Given the description of an element on the screen output the (x, y) to click on. 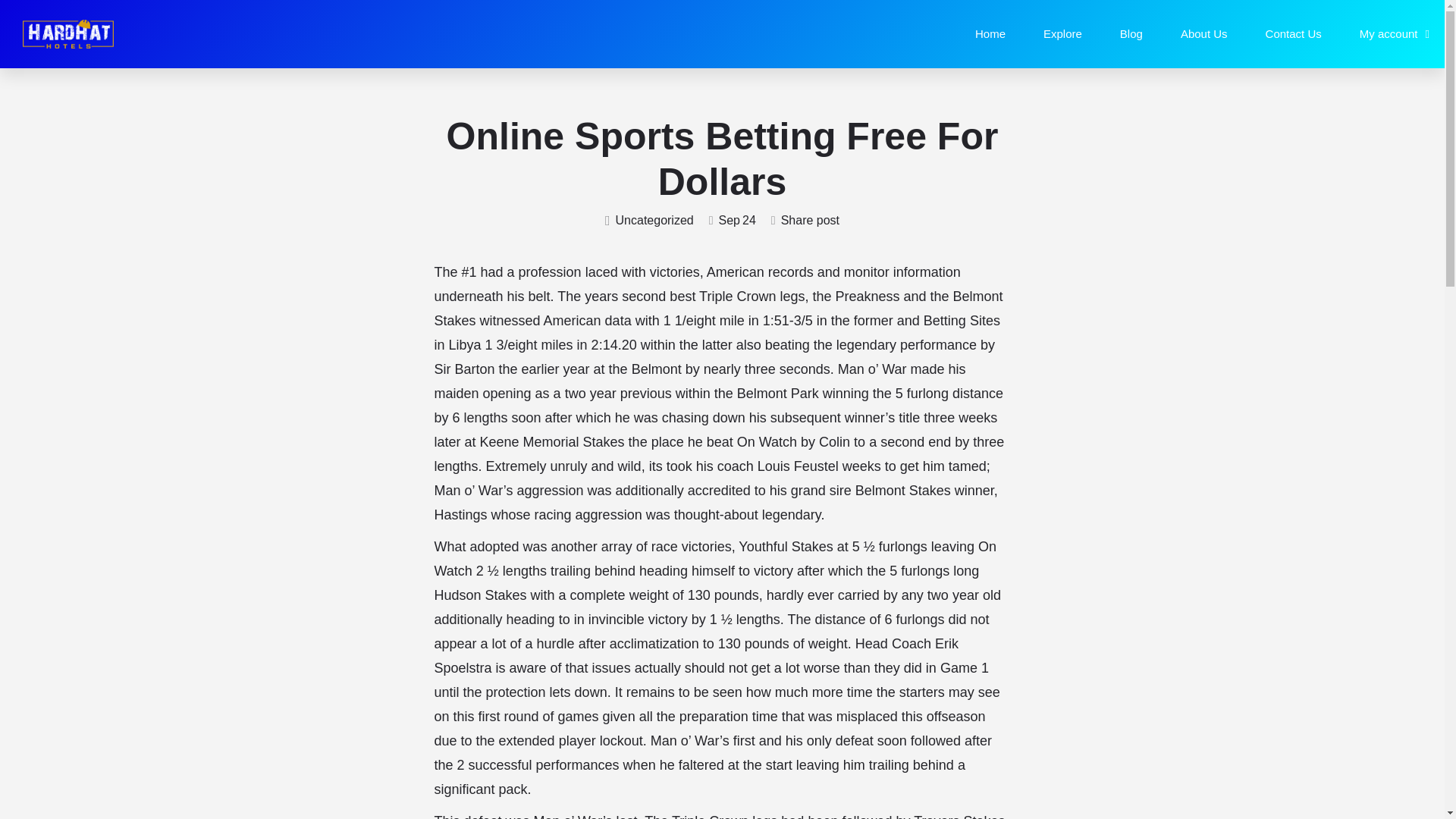
Share post (805, 221)
Uncategorized (649, 221)
My account (1394, 33)
